Given the description of an element on the screen output the (x, y) to click on. 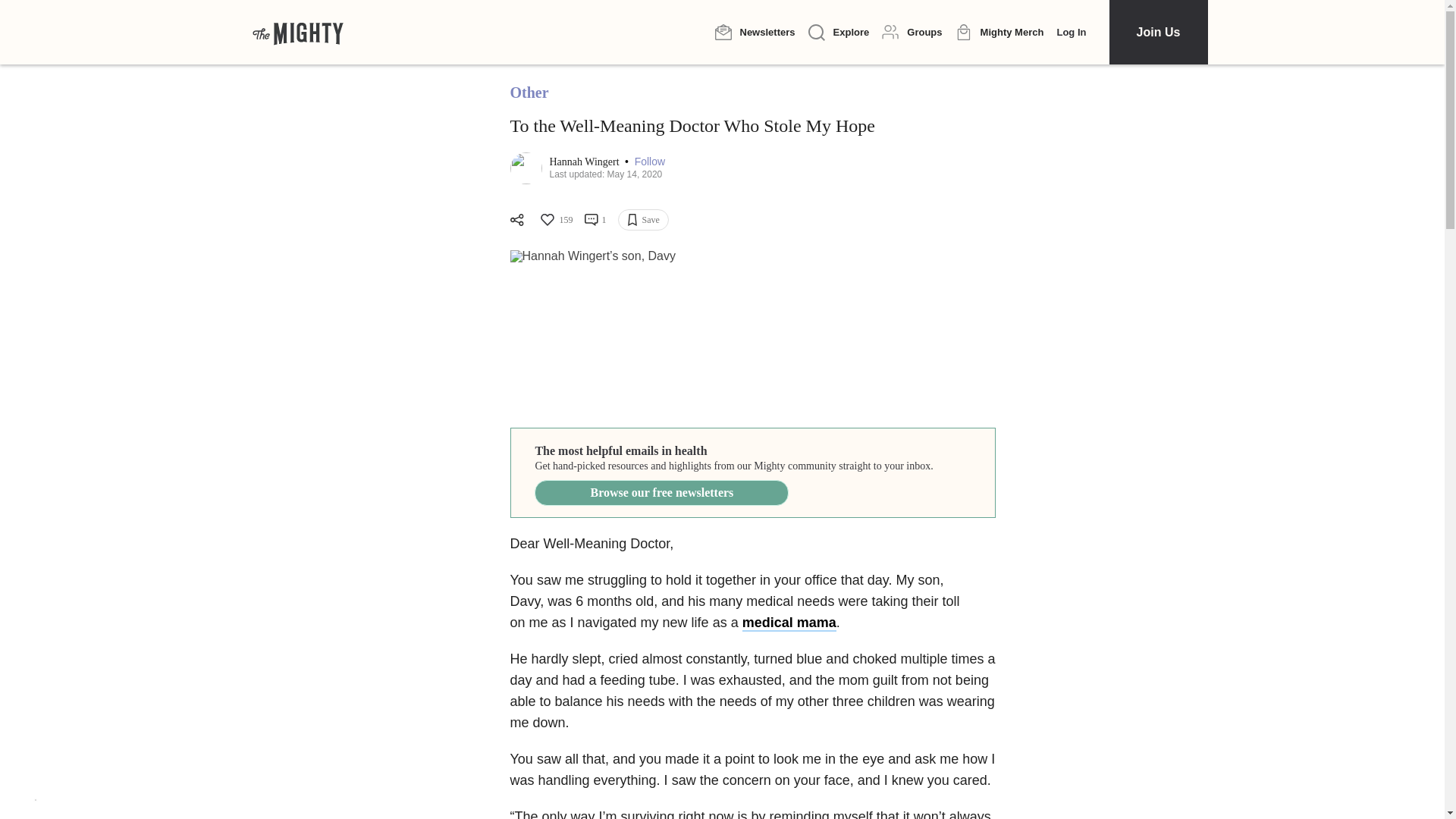
Explore (838, 32)
Browse our free newsletters (661, 492)
Mighty Merch (999, 32)
Save (642, 219)
Follow (649, 161)
A Letter to the Well-Meaning Doctor Who Stole My Hope (751, 331)
Newsletters (754, 31)
The Mighty (296, 32)
Hannah Wingert (584, 161)
159 (555, 219)
Other (528, 92)
medical mama (788, 623)
Groups (912, 32)
1 (594, 219)
Join Us (1157, 32)
